Given the description of an element on the screen output the (x, y) to click on. 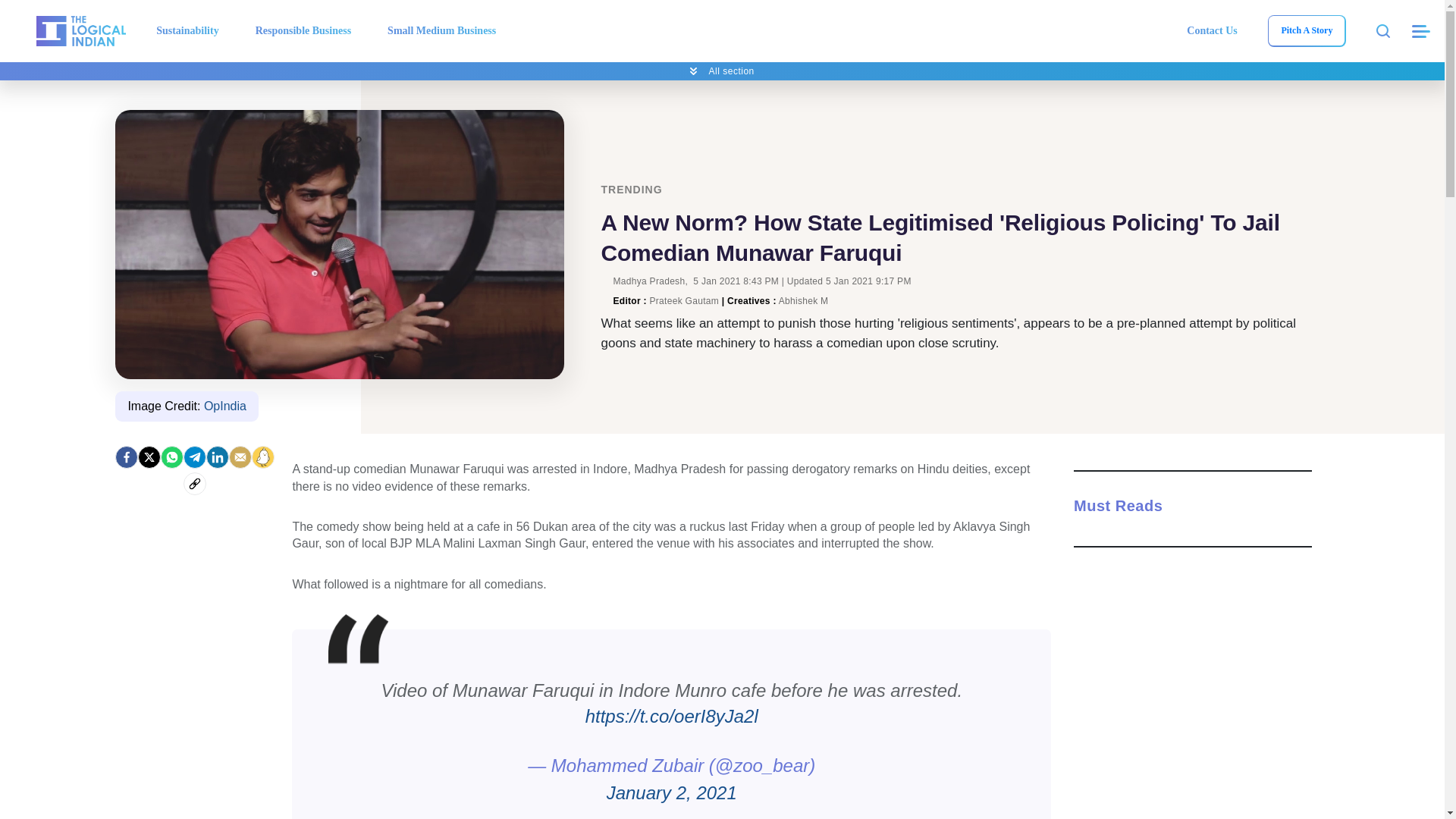
LinkedIn (217, 456)
Small Medium Business (441, 30)
Pitch A Story (1305, 30)
Sustainability (186, 30)
The Logical Indian (80, 30)
Share by Email (239, 456)
Contact Us (1212, 30)
Responsible Business (303, 30)
